Given the description of an element on the screen output the (x, y) to click on. 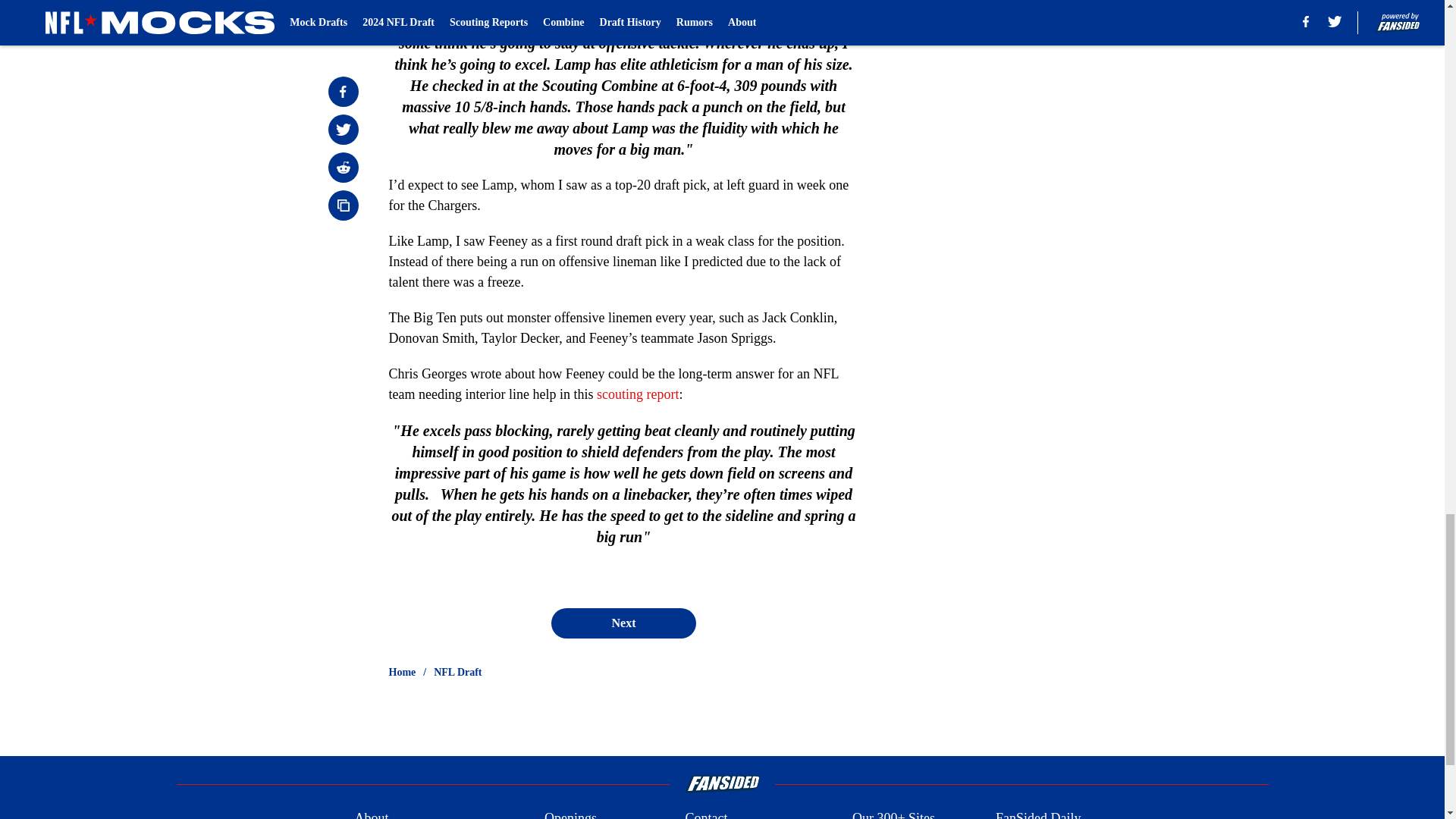
FanSided Daily (1038, 813)
Openings (570, 813)
NFL Draft (457, 672)
Home (401, 672)
About (370, 813)
Next (622, 623)
scouting report (637, 394)
Contact (705, 813)
